Given the description of an element on the screen output the (x, y) to click on. 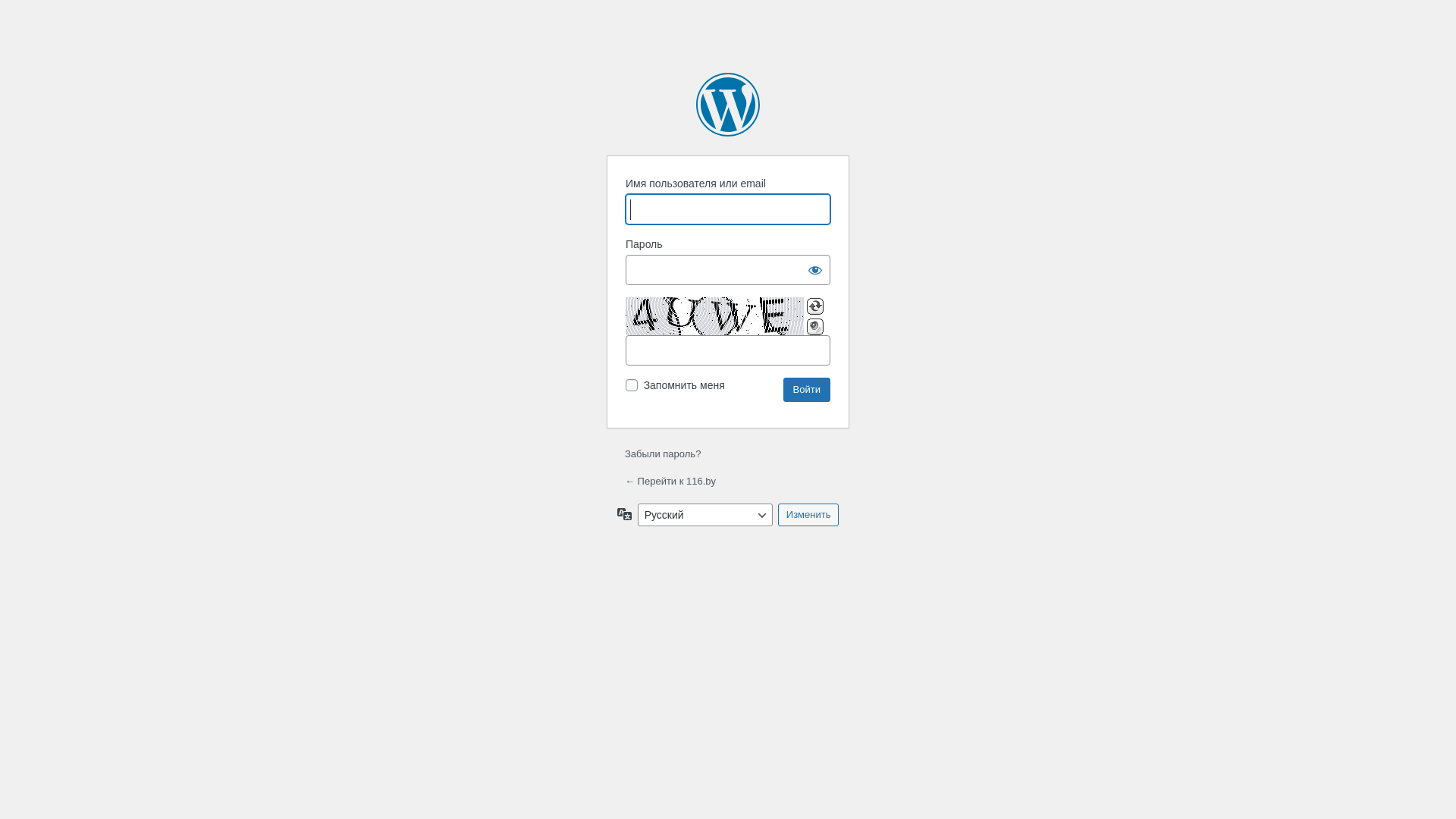
Change the CAPTCHA code Element type: hover (814, 306)
Speak the CAPTCHA code Element type: hover (814, 326)
What is the WordPress CAPTCHA Plugin? Element type: hover (714, 316)
